Given the description of an element on the screen output the (x, y) to click on. 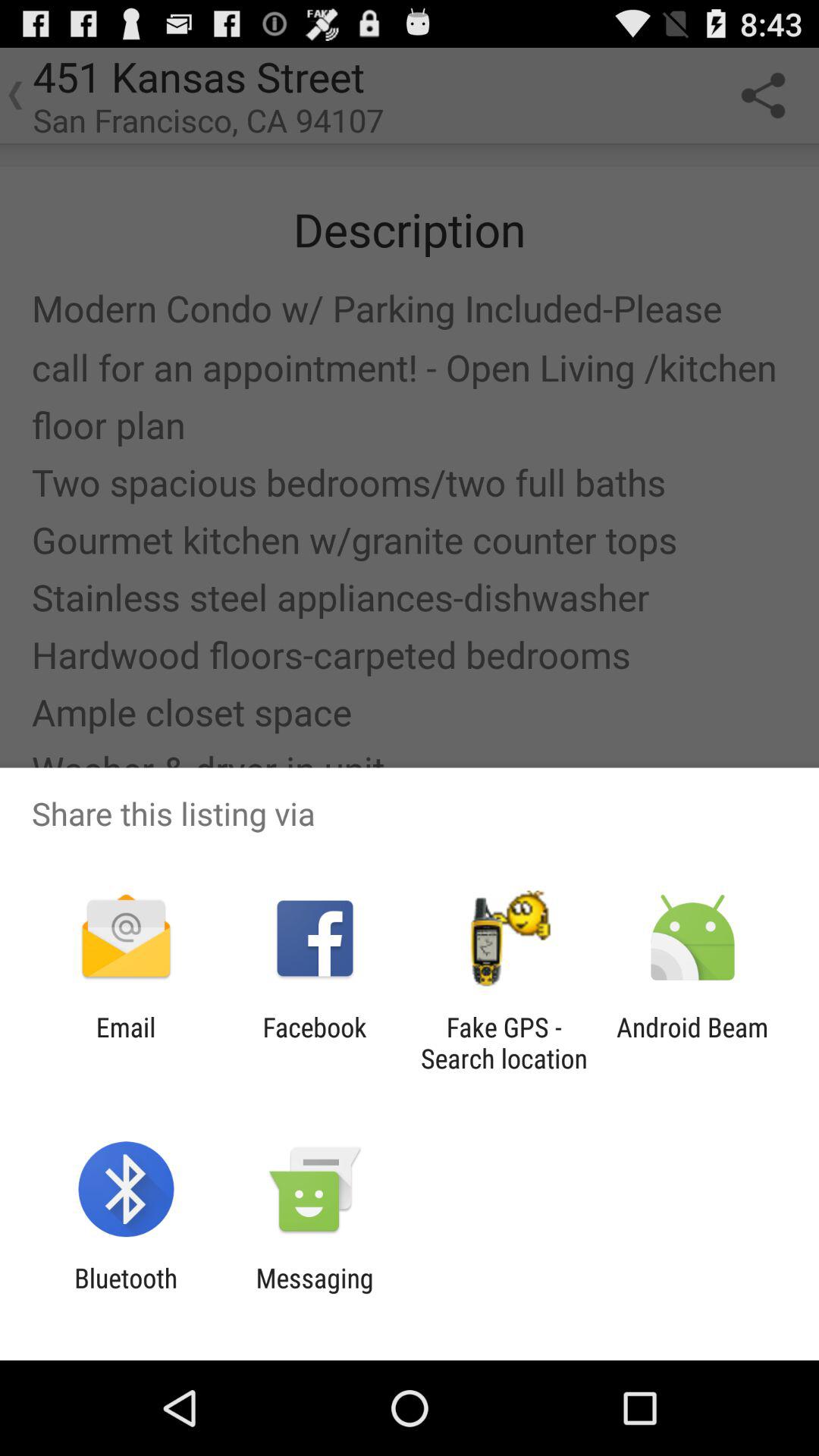
flip until messaging (314, 1293)
